Given the description of an element on the screen output the (x, y) to click on. 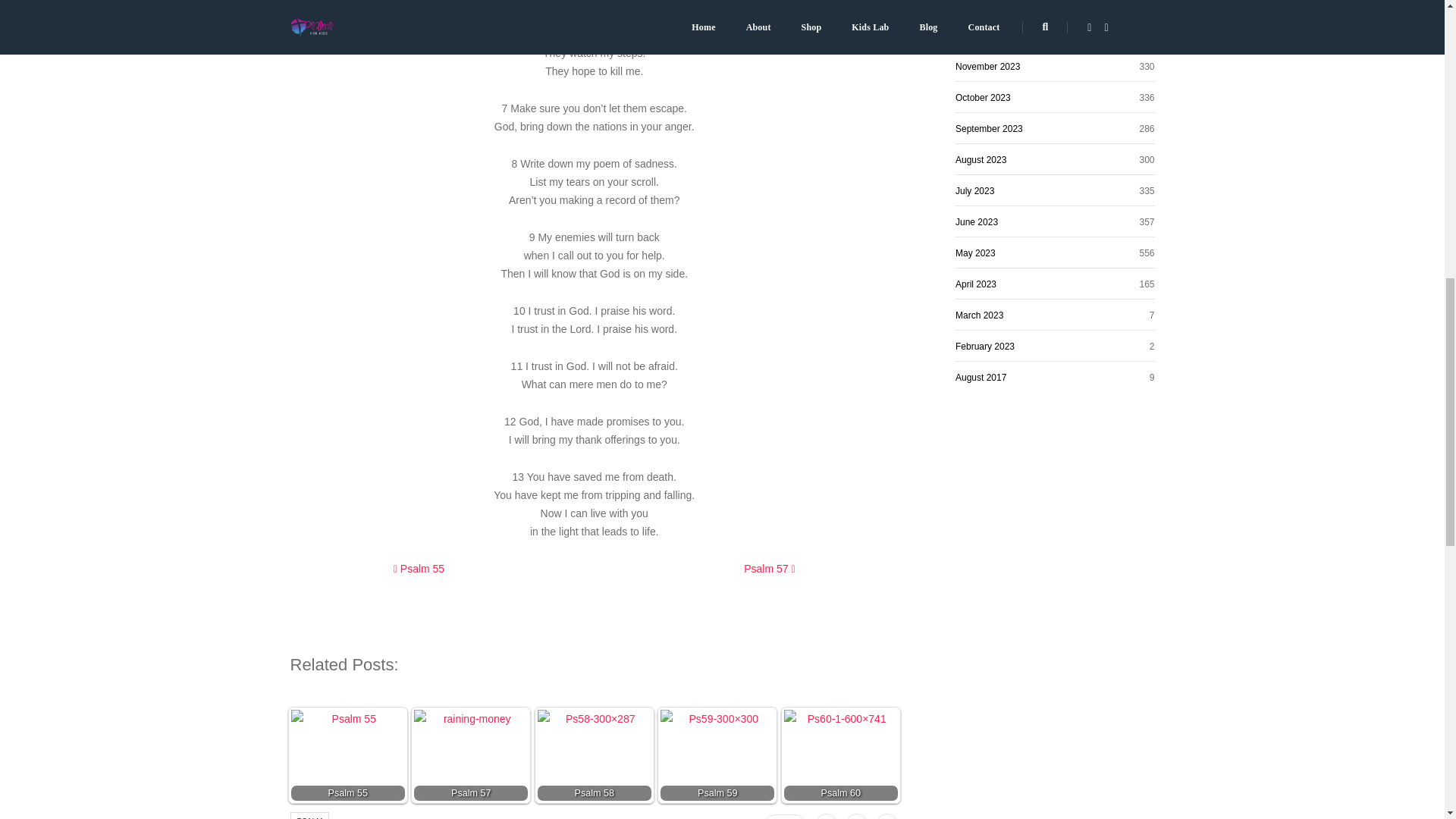
Psalm 57 (470, 755)
Psalm 57 (769, 568)
Psalm 59 (717, 764)
Like (784, 816)
34 (784, 816)
Psalm 55 (347, 755)
Psalm 60 (840, 755)
Psalm 59 (717, 755)
Psalm 55 (347, 764)
PSALM (309, 815)
Psalm 58 (594, 755)
Psalm 60 (841, 764)
Psalm 58 (593, 764)
Psalm 55 (418, 568)
Psalm 57 (470, 755)
